Given the description of an element on the screen output the (x, y) to click on. 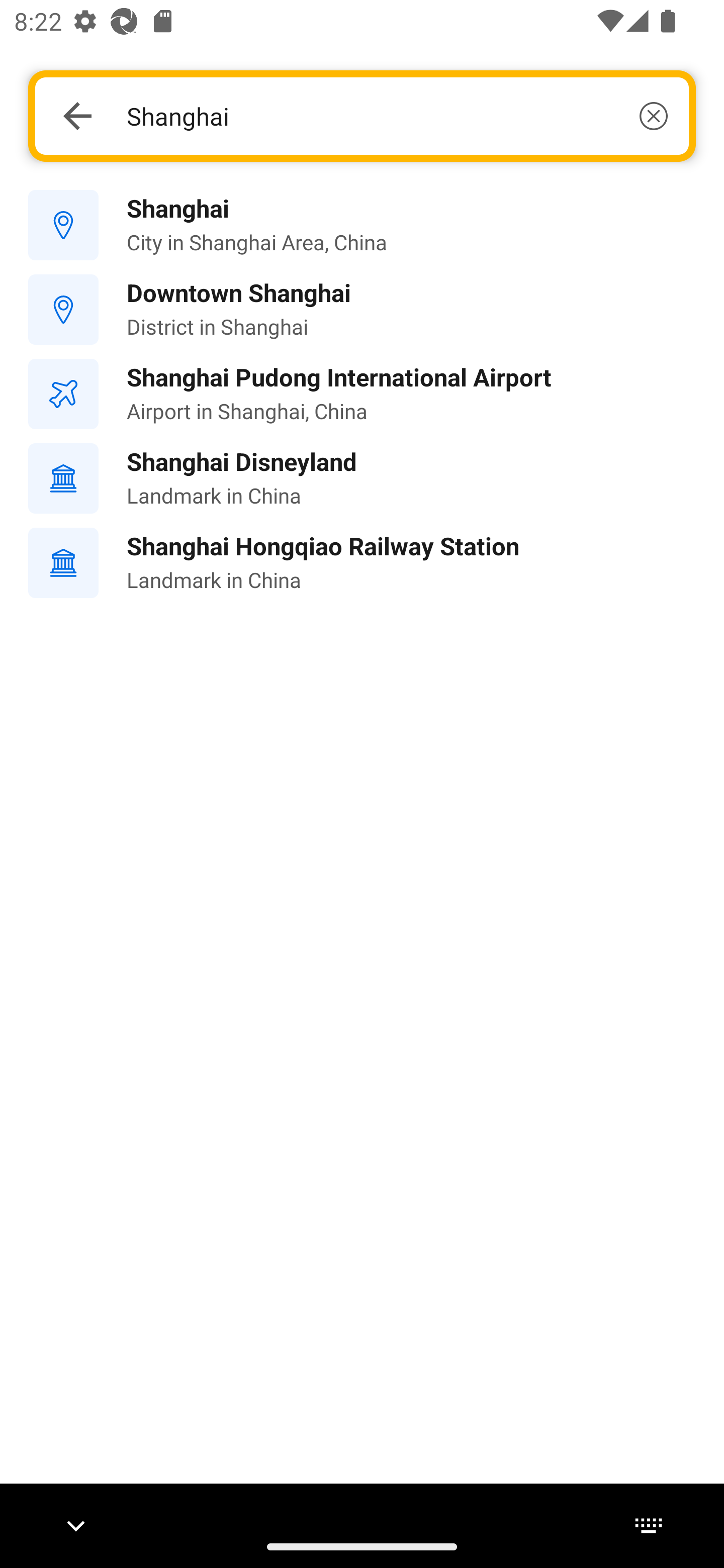
Shanghai (396, 115)
Shanghai City in Shanghai Area, China (362, 225)
Downtown Shanghai District in Shanghai (362, 309)
Shanghai Disneyland Landmark in China (362, 477)
